Given the description of an element on the screen output the (x, y) to click on. 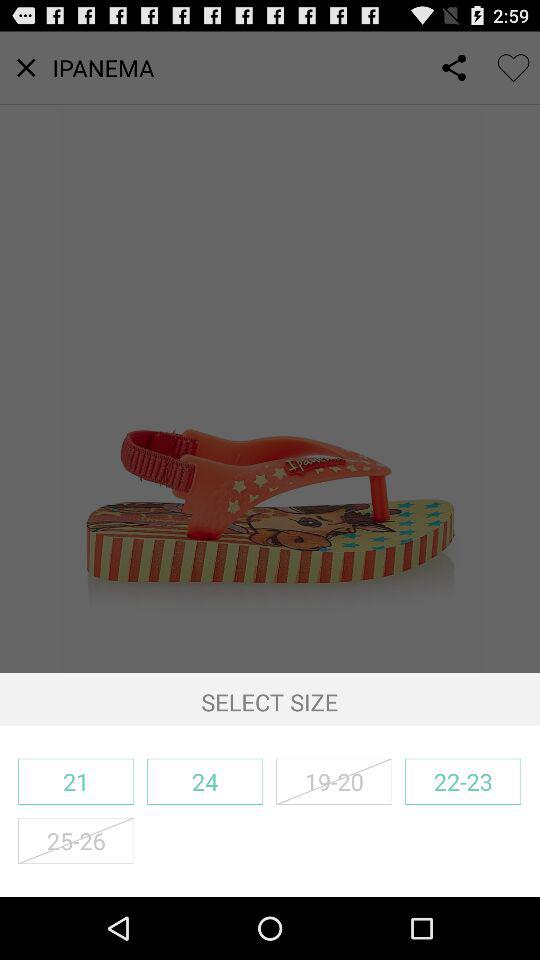
press icon above select size (270, 352)
